Given the description of an element on the screen output the (x, y) to click on. 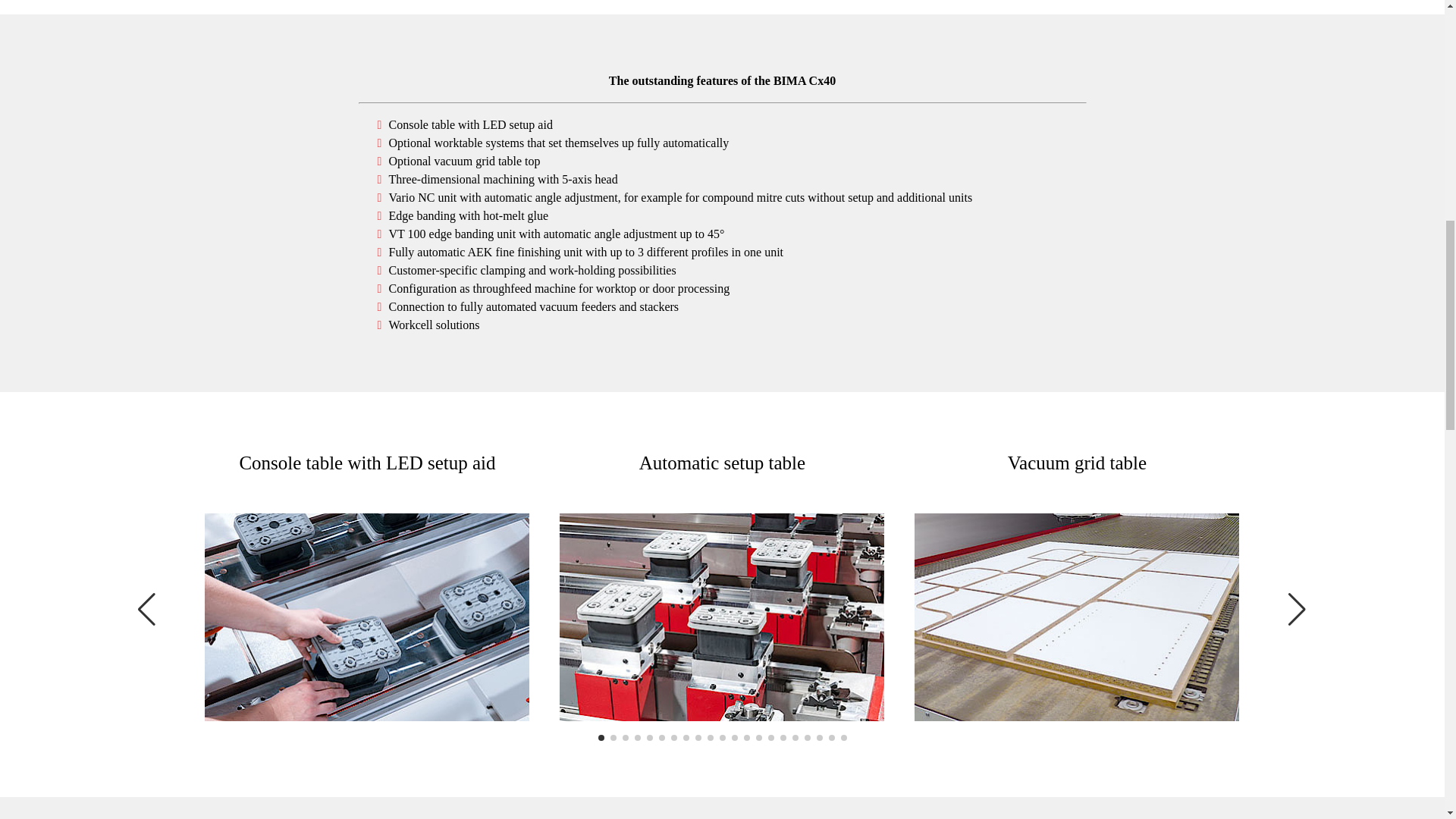
Vacuum grid table (1076, 617)
Automatic setup table (721, 617)
Console table with LED setup aid (367, 617)
